Given the description of an element on the screen output the (x, y) to click on. 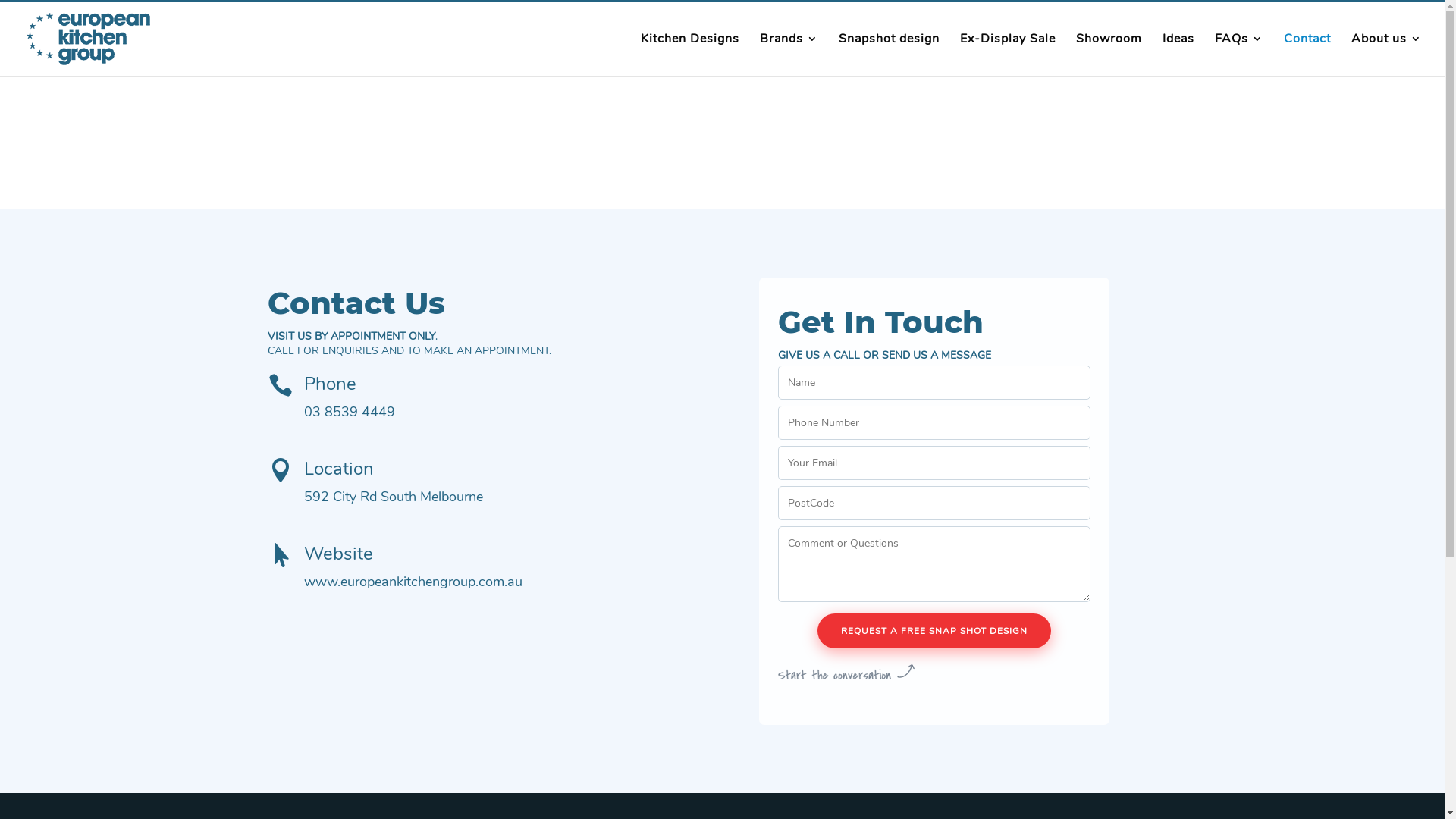
FAQs Element type: text (1238, 54)
Brands Element type: text (788, 54)
Request a Free Snap Shot Design Element type: text (934, 630)
Kitchen Designs Element type: text (689, 54)
Showroom Element type: text (1109, 54)
Ideas Element type: text (1178, 54)
Ex-Display Sale Element type: text (1007, 54)
About us Element type: text (1386, 54)
Phone Element type: text (329, 383)
Snapshot design Element type: text (888, 54)
www.europeankitchengroup.com.au Element type: text (412, 581)
03 8539 4449 Element type: text (348, 411)
Contact Element type: text (1306, 54)
592 City Rd South Melbourne Element type: text (392, 496)
